Given the description of an element on the screen output the (x, y) to click on. 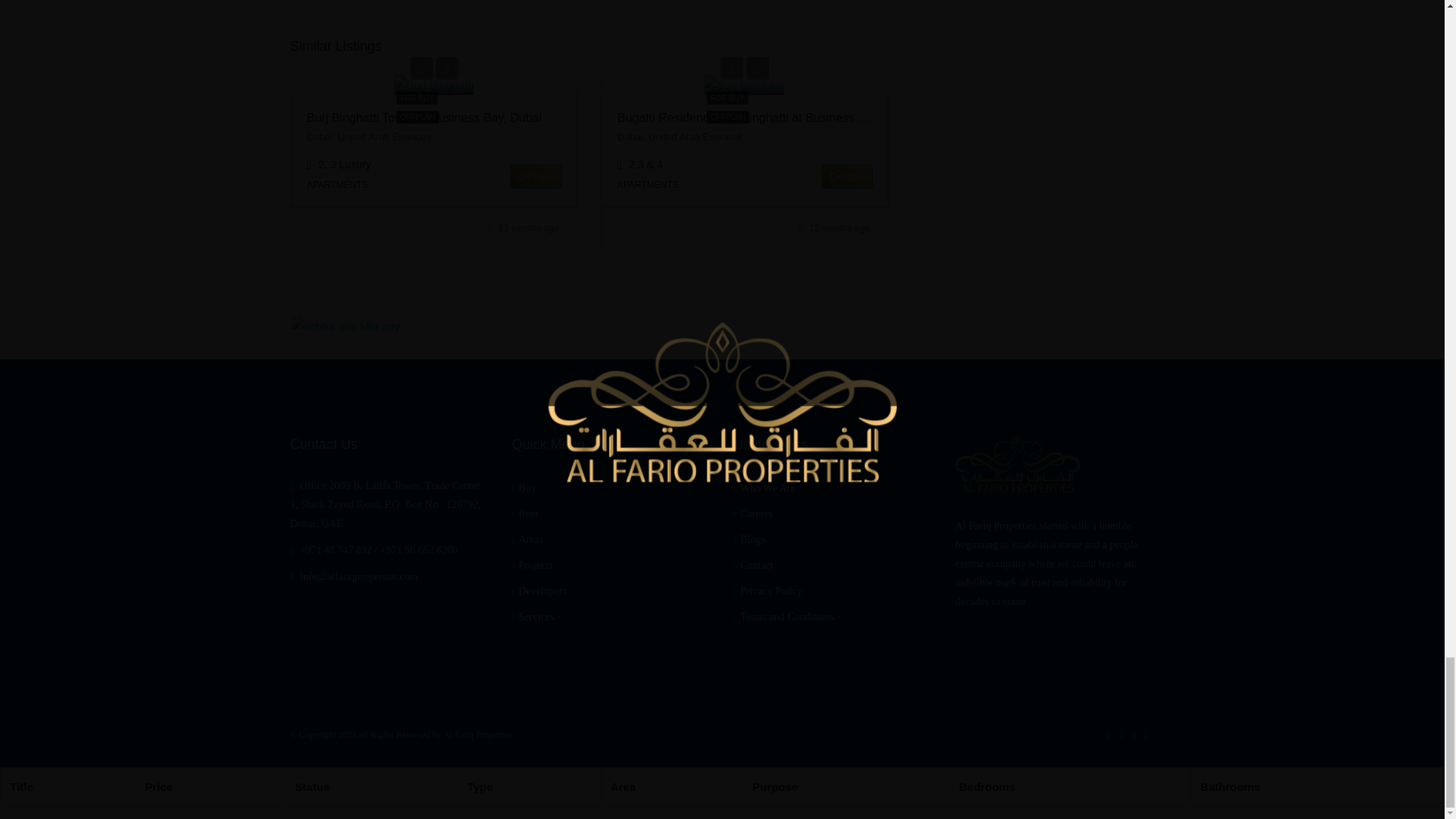
Preview (731, 67)
Preview (421, 67)
Favourite (756, 67)
Favourite (446, 67)
